Given the description of an element on the screen output the (x, y) to click on. 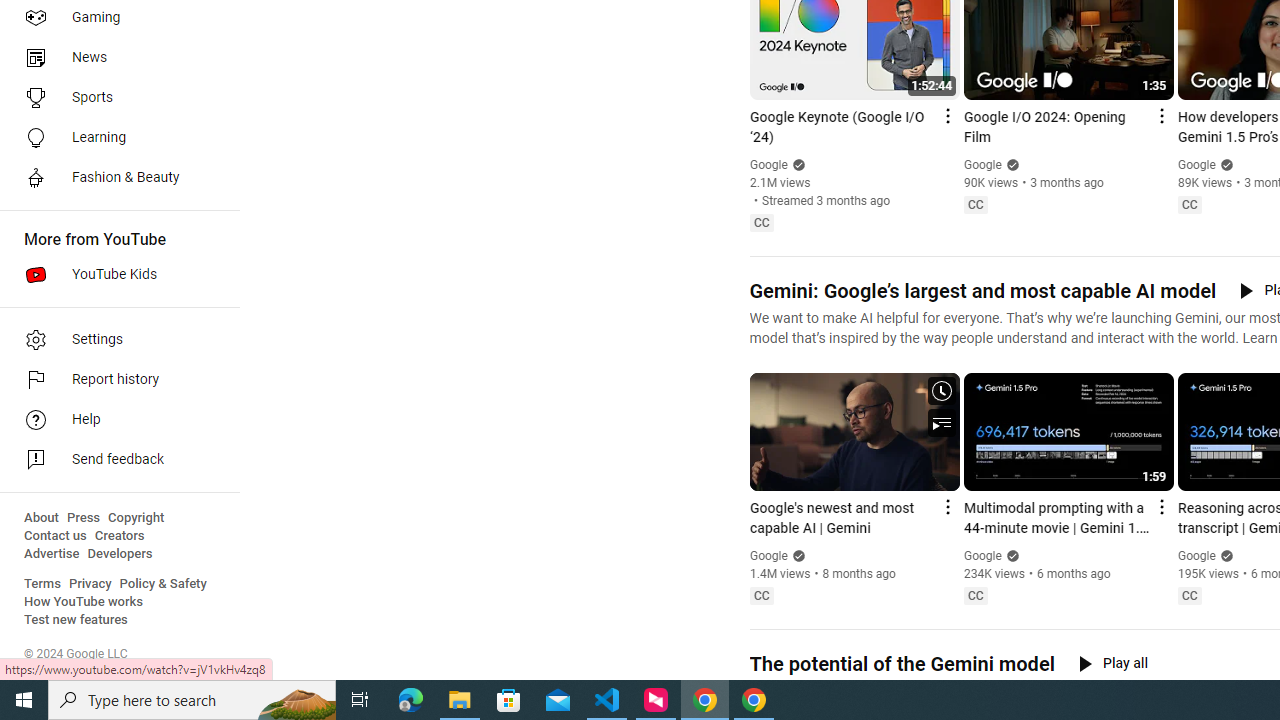
Report history (113, 380)
Policy & Safety (163, 584)
Creators (118, 536)
News (113, 57)
Action menu (1160, 506)
Learning (113, 137)
Advertise (51, 554)
Copyright (136, 518)
Press (83, 518)
